Given the description of an element on the screen output the (x, y) to click on. 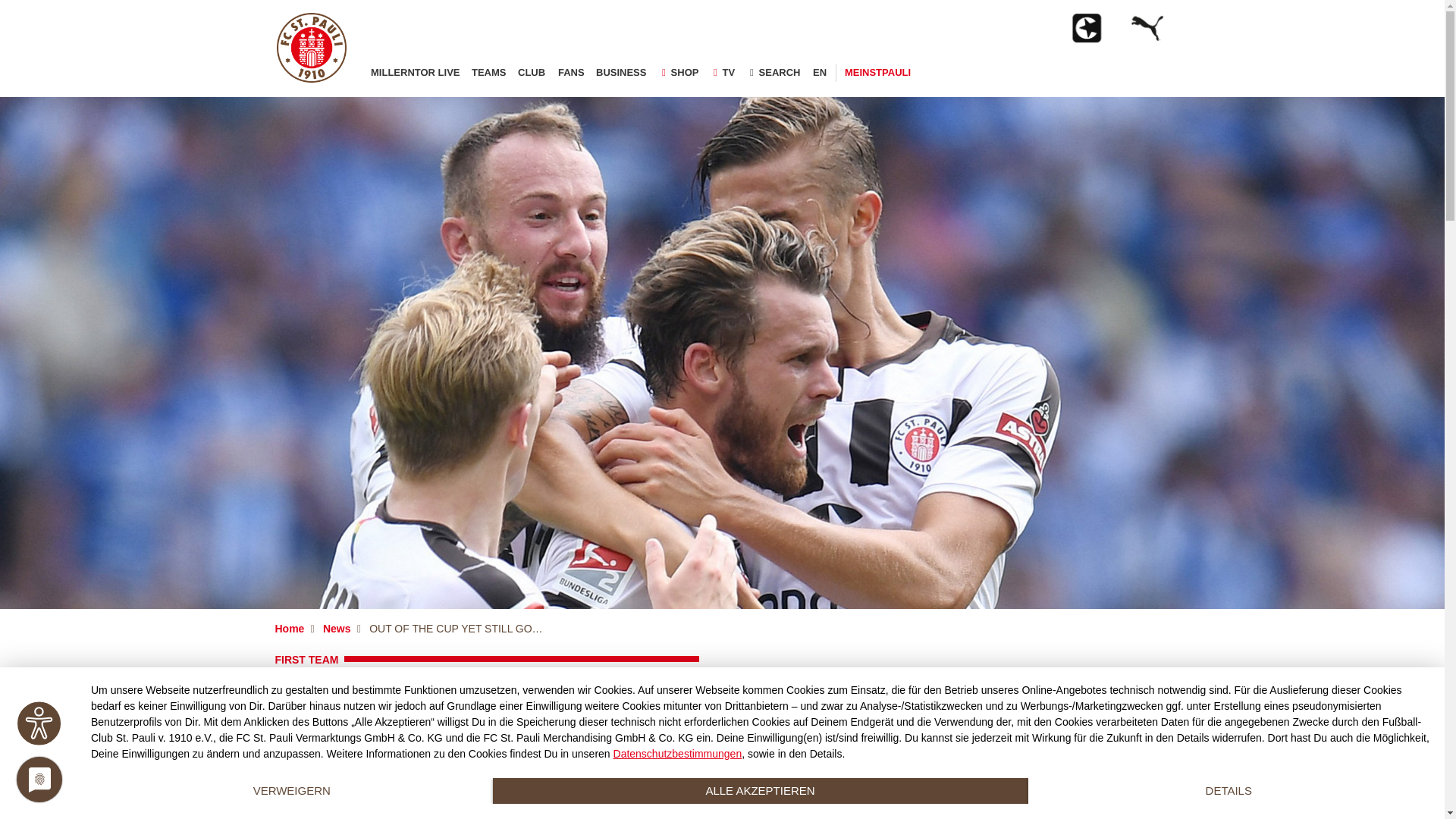
FC ST. PAULI (311, 47)
MILLERNTOR LIVE (414, 72)
TEAMS (488, 72)
Puma (1155, 35)
Per E-Mail teilen (317, 814)
Auf Facebook teilen (317, 788)
